Given the description of an element on the screen output the (x, y) to click on. 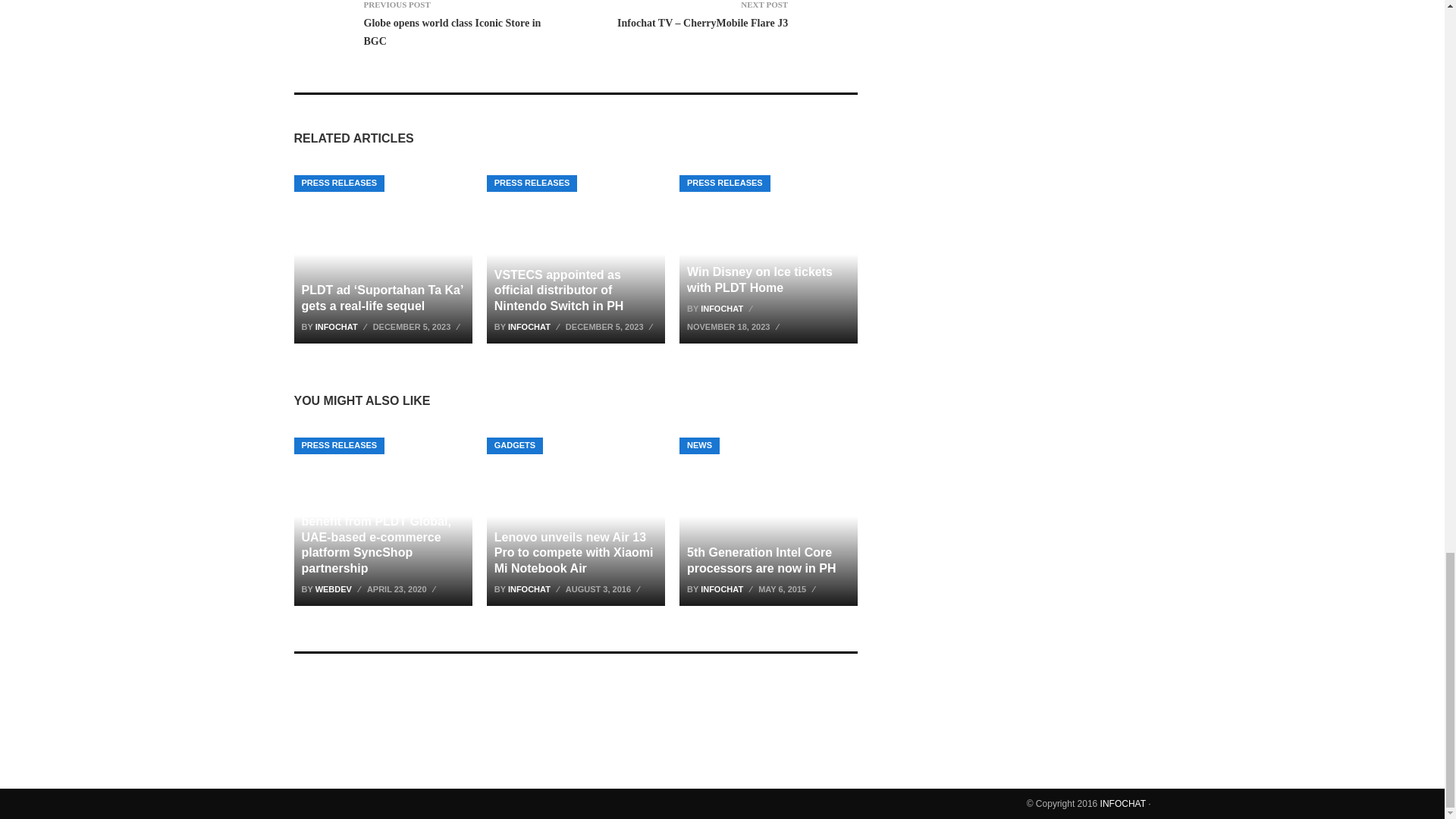
Tuesday, December 5, 2023, 4:47 pm (418, 326)
Saturday, November 18, 2023, 12:48 pm (735, 326)
Tuesday, December 5, 2023, 3:27 pm (611, 326)
Wednesday, August 3, 2016, 8:54 pm (604, 588)
Thursday, April 23, 2020, 6:32 pm (402, 588)
Wednesday, May 6, 2015, 10:08 am (788, 588)
